Given the description of an element on the screen output the (x, y) to click on. 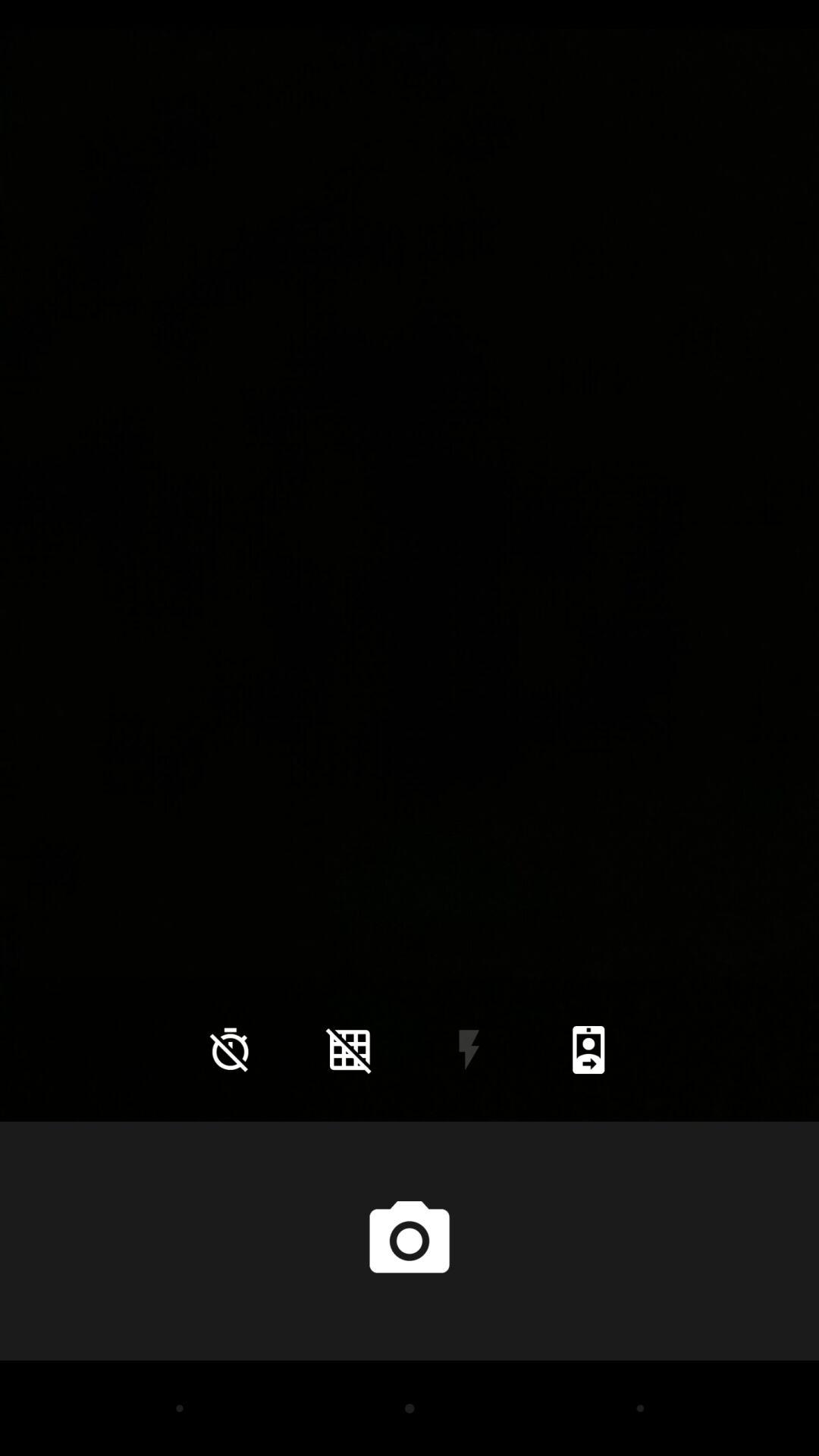
click the item at the bottom left corner (230, 1049)
